Given the description of an element on the screen output the (x, y) to click on. 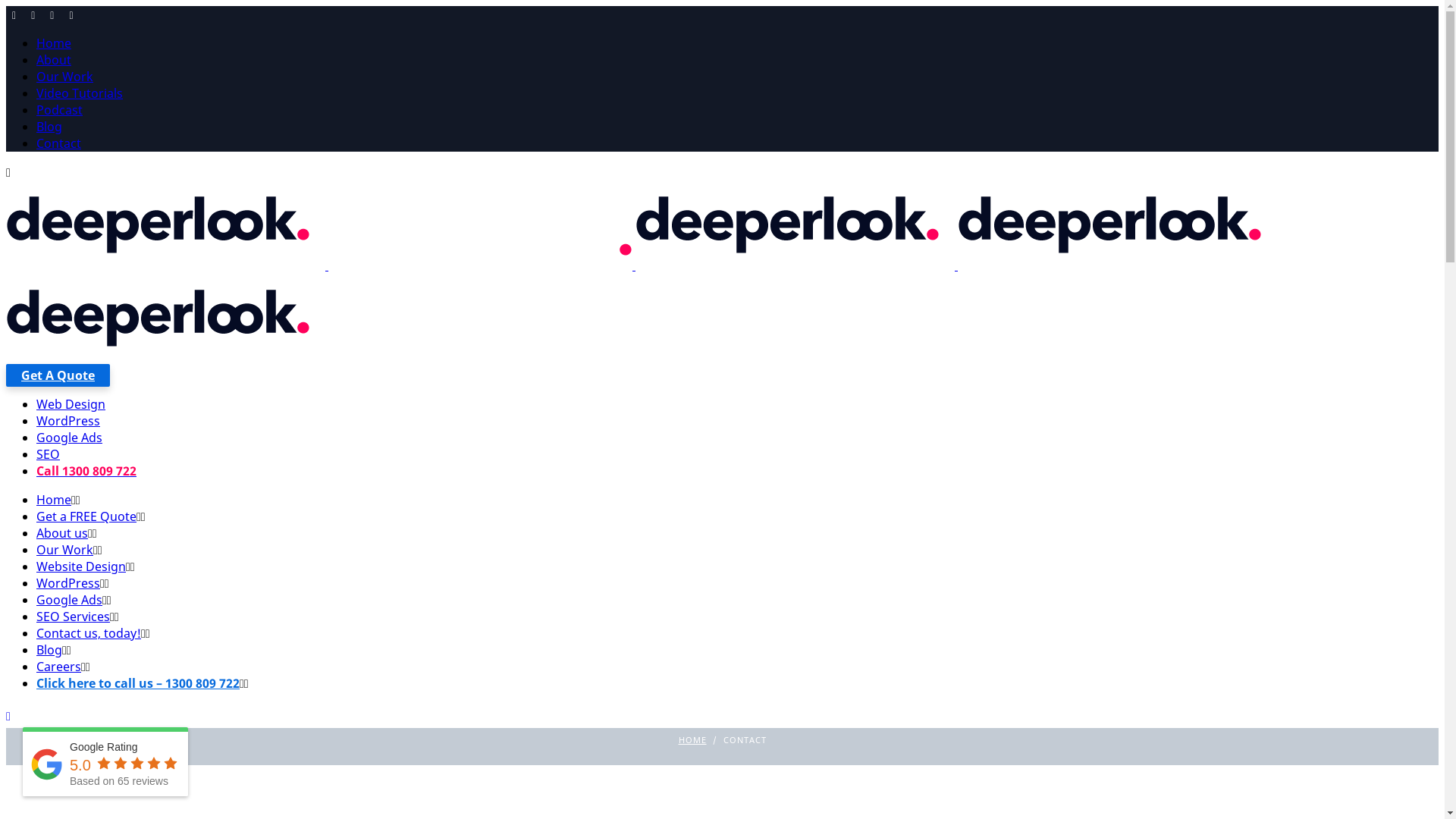
WordPress Element type: text (68, 582)
Web Design Element type: text (70, 403)
Blog Element type: text (49, 649)
Website Design Element type: text (80, 566)
Careers Element type: text (58, 666)
Blog Element type: text (49, 126)
Our Work Element type: text (64, 549)
Get A Quote Element type: text (57, 375)
Home Element type: text (53, 499)
Home Element type: text (53, 42)
HOME Element type: text (691, 739)
SEO Services Element type: text (72, 616)
Contact us, today! Element type: text (88, 632)
SEO Element type: text (47, 453)
Video Tutorials Element type: text (79, 92)
WordPress Element type: text (68, 420)
Google Ads Element type: text (69, 599)
Podcast Element type: text (59, 109)
About Element type: text (53, 59)
Get a FREE Quote Element type: text (86, 516)
About us Element type: text (61, 532)
Our Work Element type: text (64, 76)
Google Ads Element type: text (69, 437)
Call 1300 809 722 Element type: text (86, 470)
Contact Element type: text (58, 142)
